Given the description of an element on the screen output the (x, y) to click on. 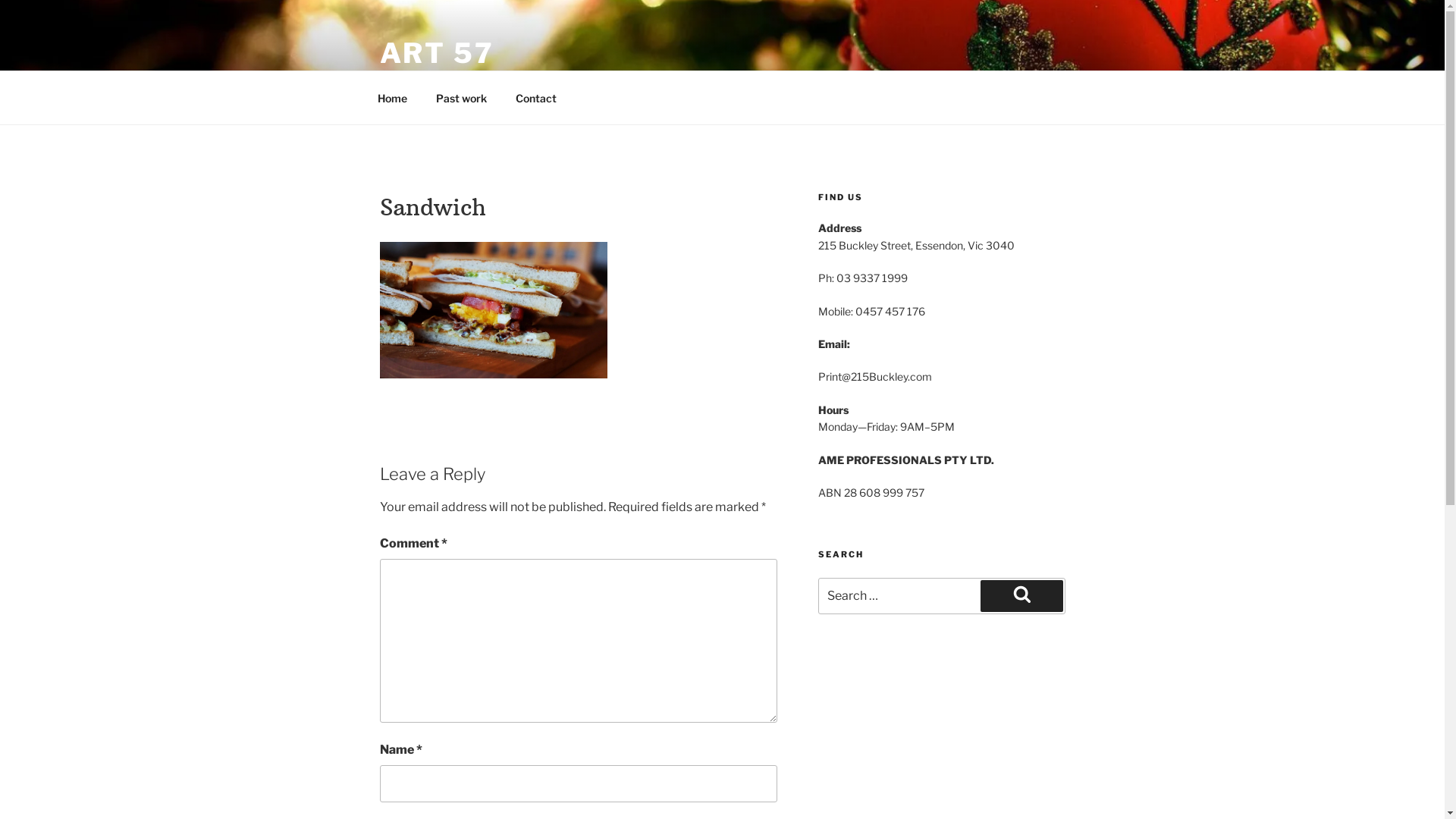
Home Element type: text (392, 97)
Past work Element type: text (461, 97)
ART 57 Element type: text (436, 52)
Search Element type: text (1020, 595)
Contact Element type: text (535, 97)
